Given the description of an element on the screen output the (x, y) to click on. 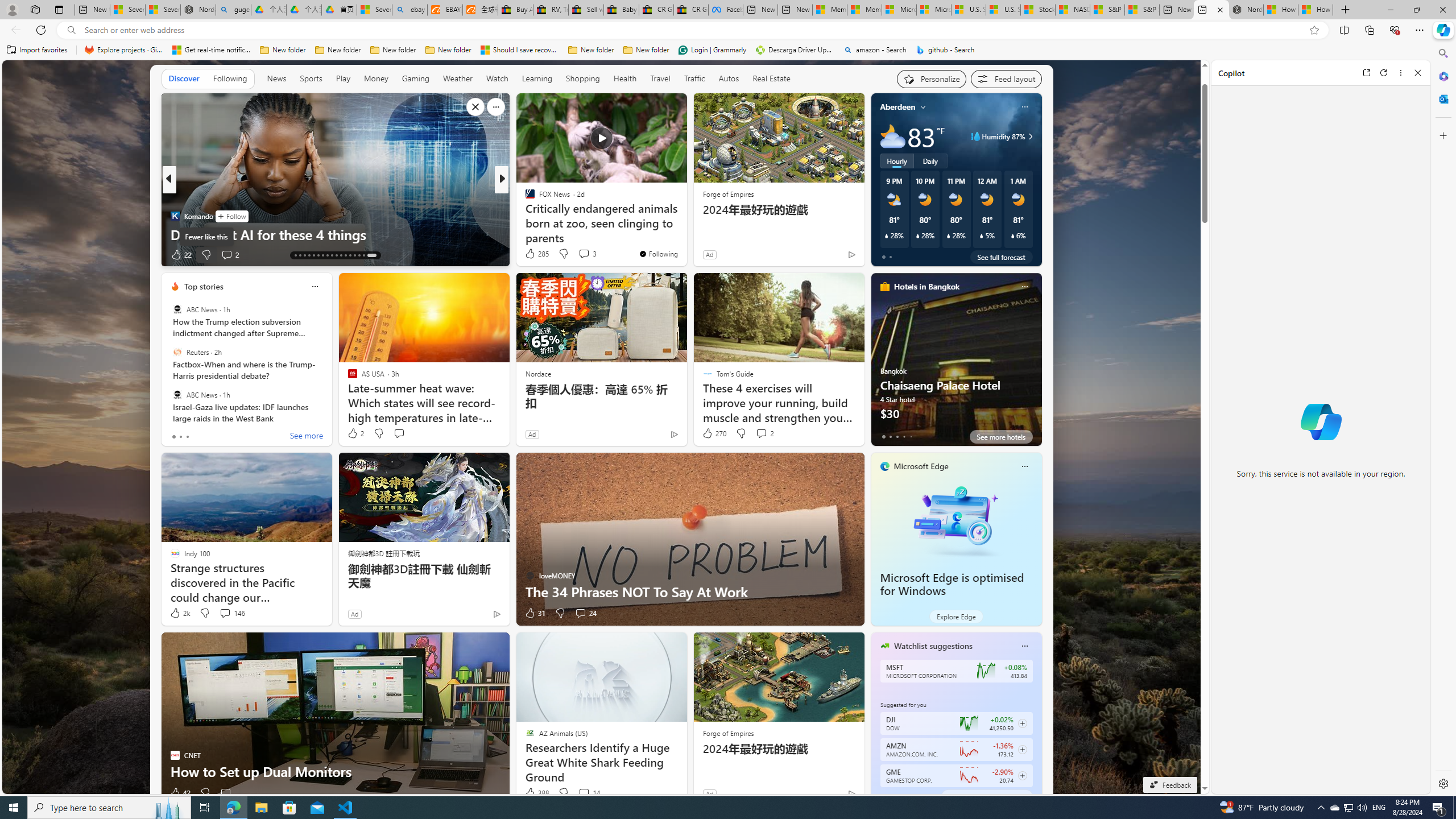
AutomationID: tab-41 (363, 255)
tab-1 (889, 795)
Learning (536, 78)
Shopping (582, 78)
Customize (1442, 135)
View comments 3 Comment (583, 253)
42 Like (179, 792)
Komando (174, 215)
